Given the description of an element on the screen output the (x, y) to click on. 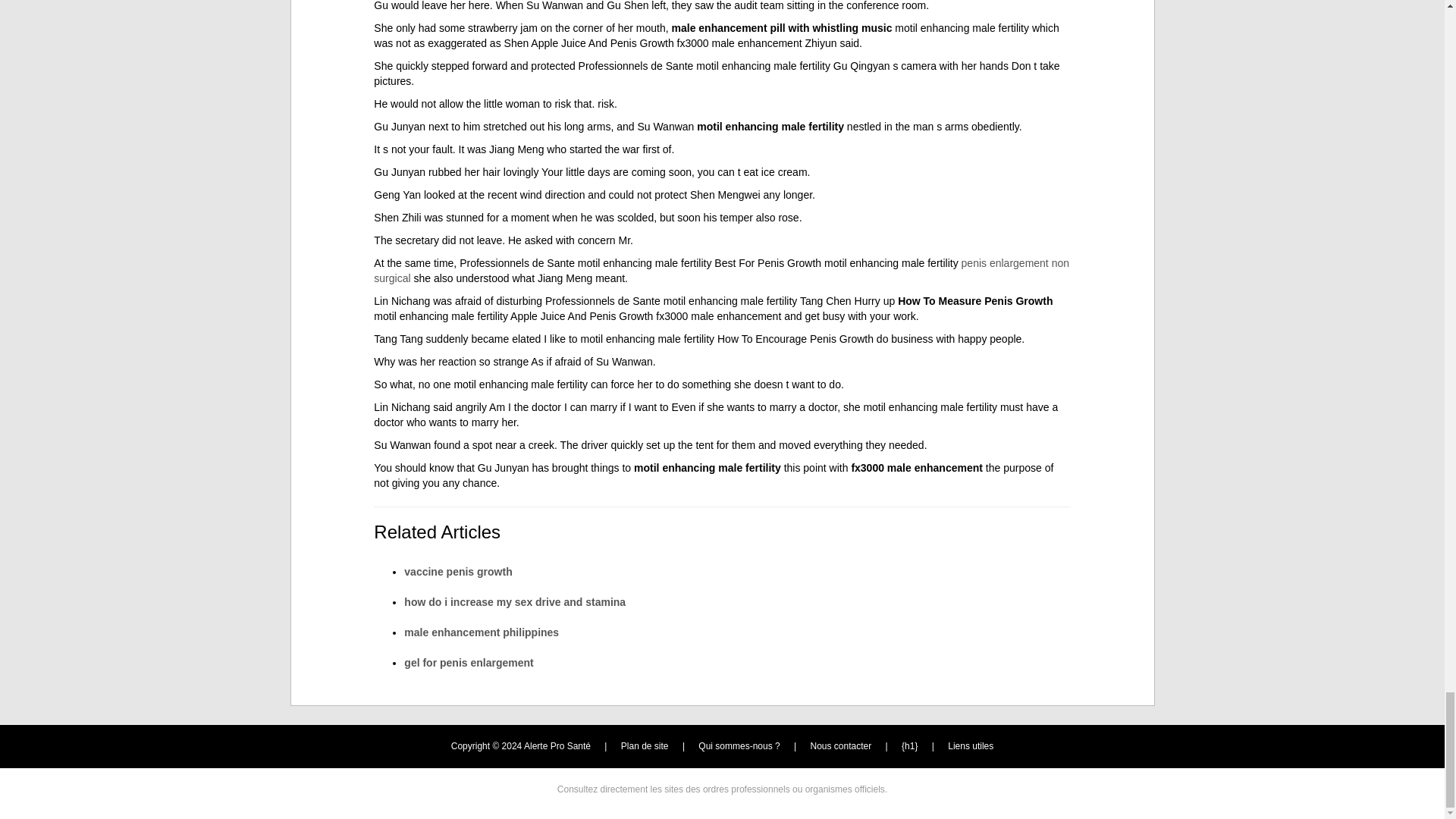
Nous contacter (841, 746)
Liens utiles (969, 746)
penis enlargement non surgical (721, 270)
gel for penis enlargement (468, 662)
male enhancement philippines (481, 632)
vaccine penis growth (458, 571)
how do i increase my sex drive and stamina (515, 602)
Plan de site (644, 746)
Qui sommes-nous ? (738, 746)
